Given the description of an element on the screen output the (x, y) to click on. 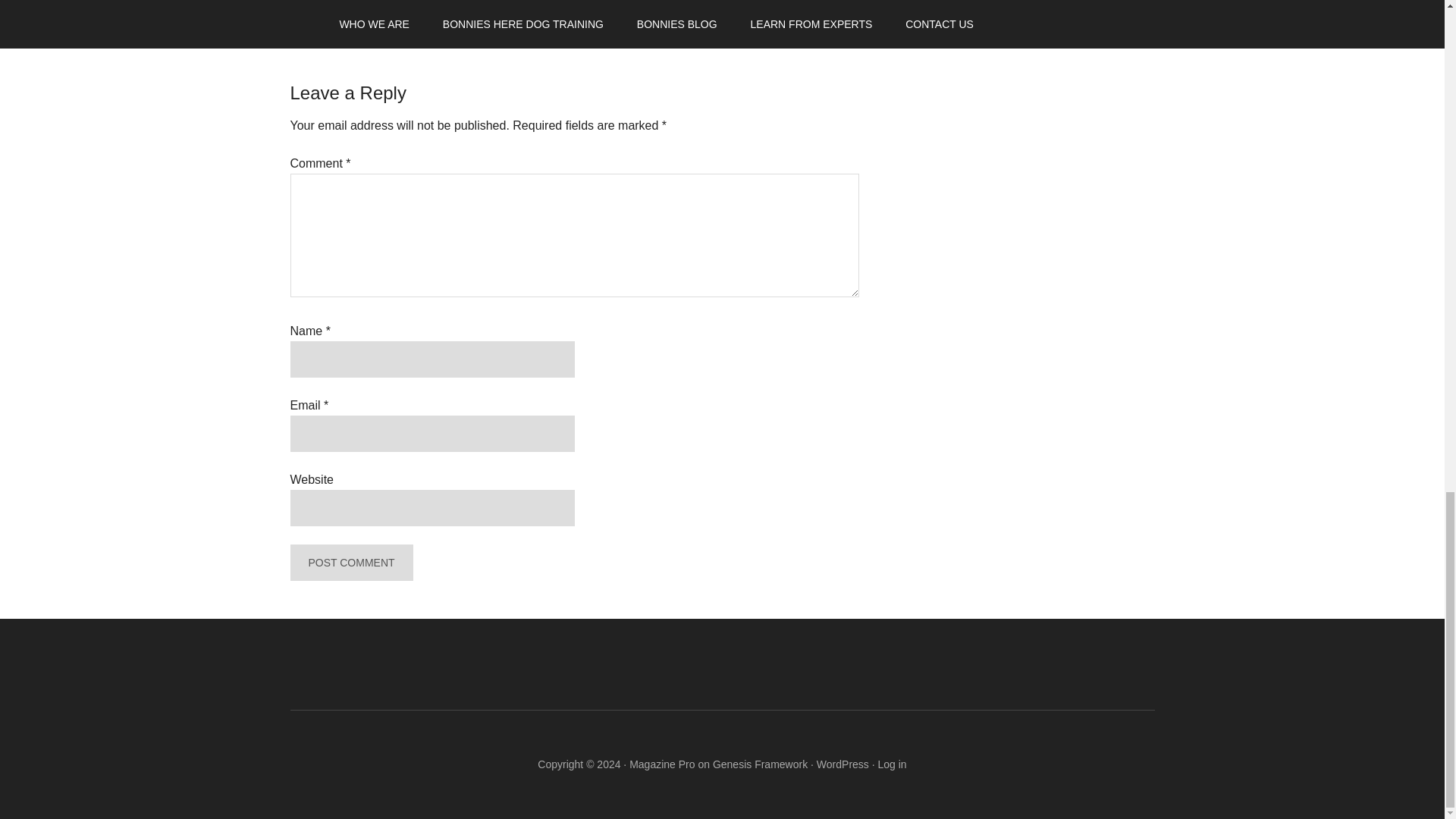
Podcast (370, 9)
Magazine Pro (661, 764)
Post Comment (350, 562)
Genesis Framework (760, 764)
Post Comment (350, 562)
